Given the description of an element on the screen output the (x, y) to click on. 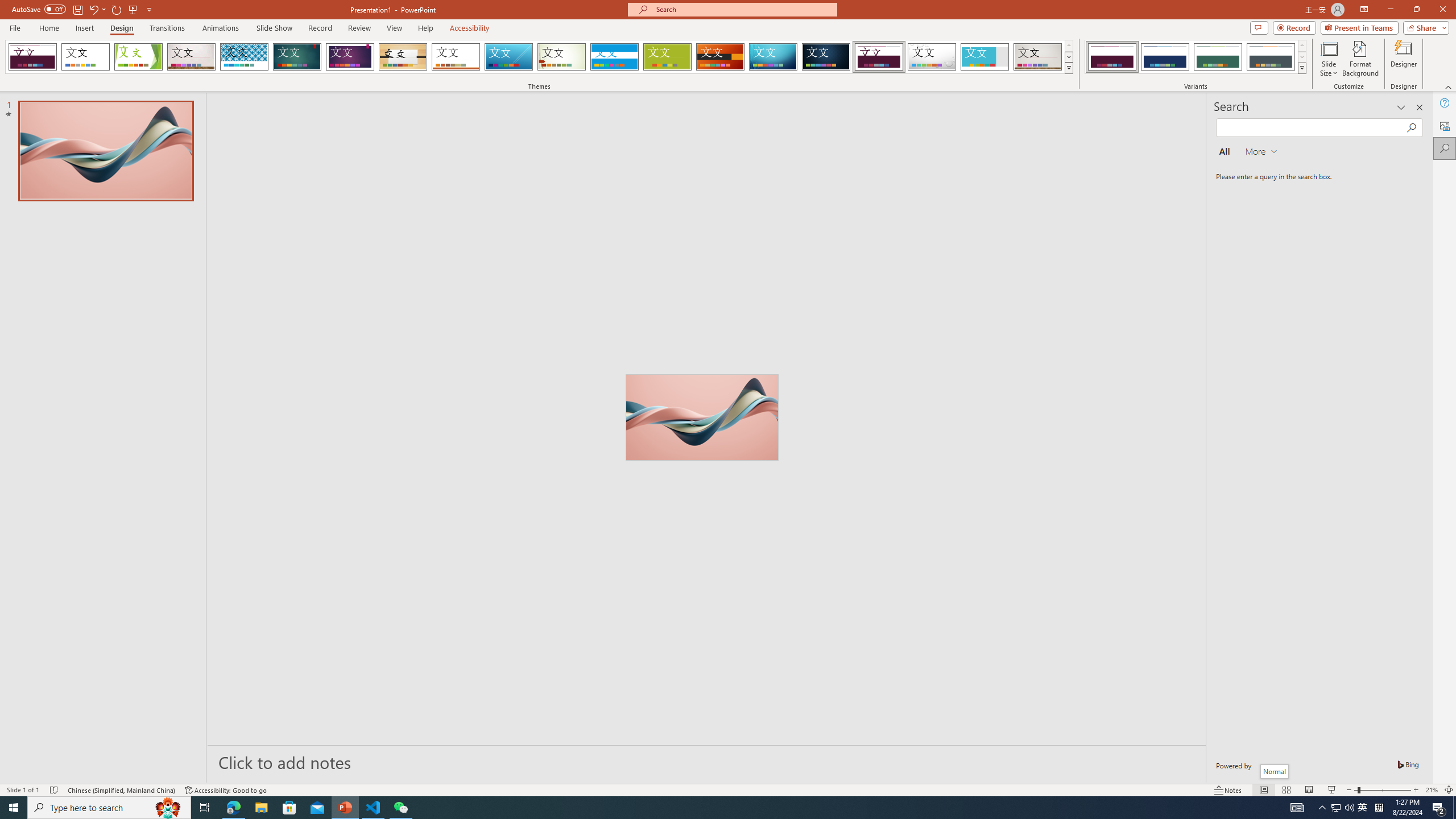
Ion (296, 56)
Dividend Variant 4 (1270, 56)
Wavy 3D art (701, 417)
Circuit (772, 56)
Slice (508, 56)
Frame (984, 56)
Integral (244, 56)
